Given the description of an element on the screen output the (x, y) to click on. 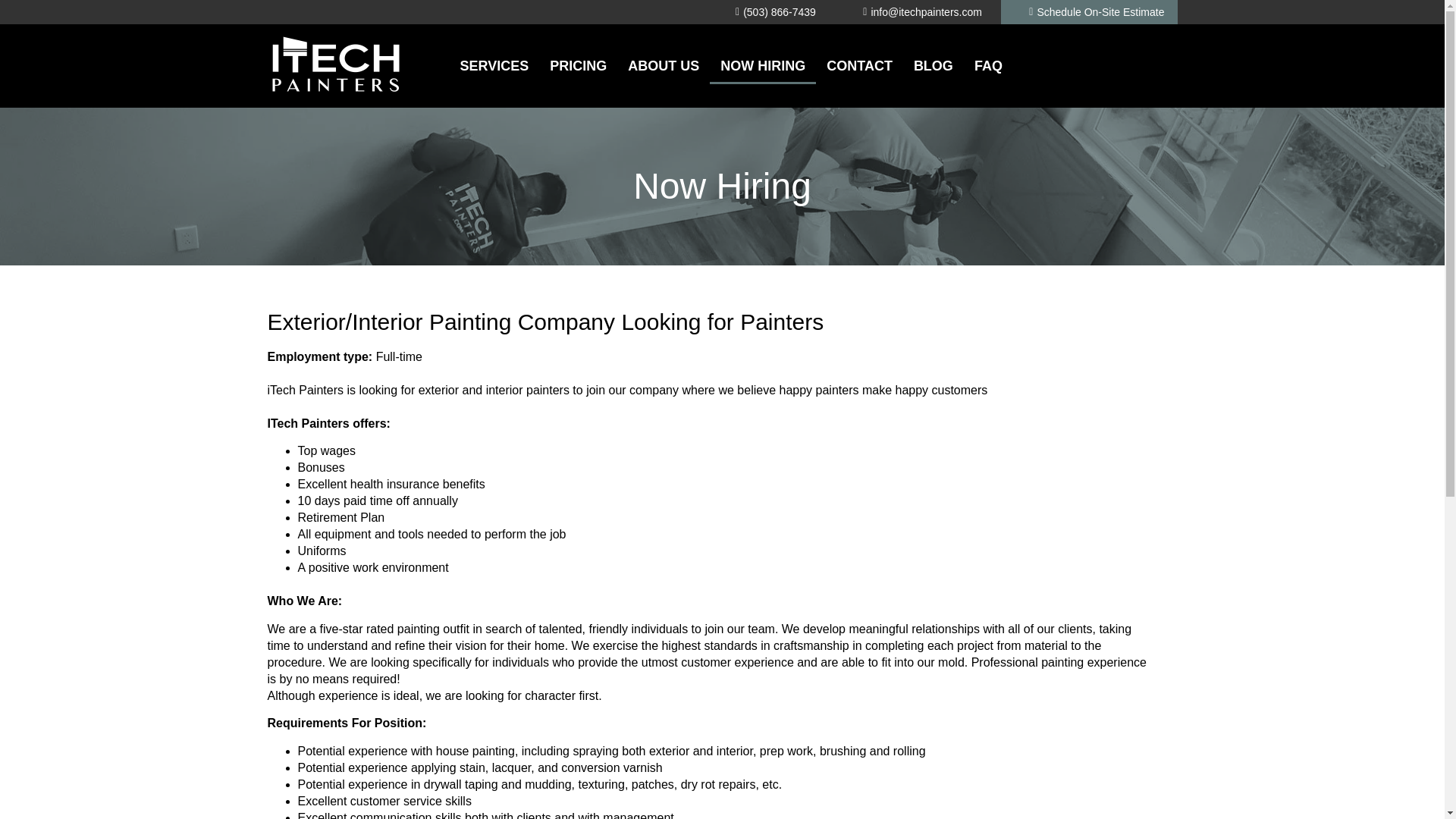
PRICING (577, 65)
SERVICES (493, 65)
BLOG (932, 65)
CONTACT (858, 65)
FAQ (984, 65)
NOW HIRING (762, 65)
Schedule On-Site Estimate (1092, 12)
ABOUT US (663, 65)
